Given the description of an element on the screen output the (x, y) to click on. 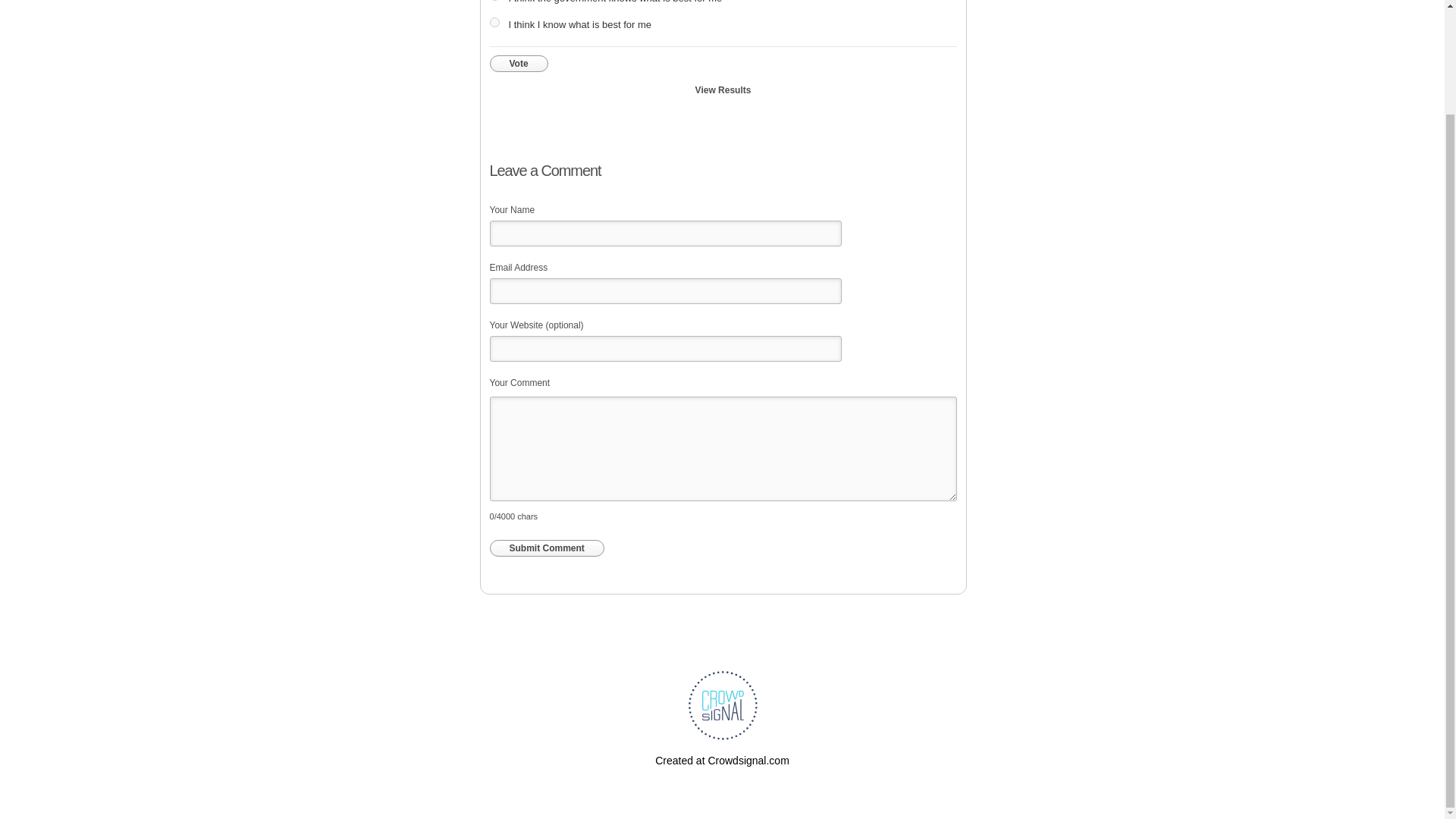
Created at Crowdsignal.com (722, 760)
Create free online surveys today with Crowdsignal! (722, 760)
View Results (723, 90)
49911022 (494, 22)
Vote (518, 63)
Submit Comment (546, 547)
